Given the description of an element on the screen output the (x, y) to click on. 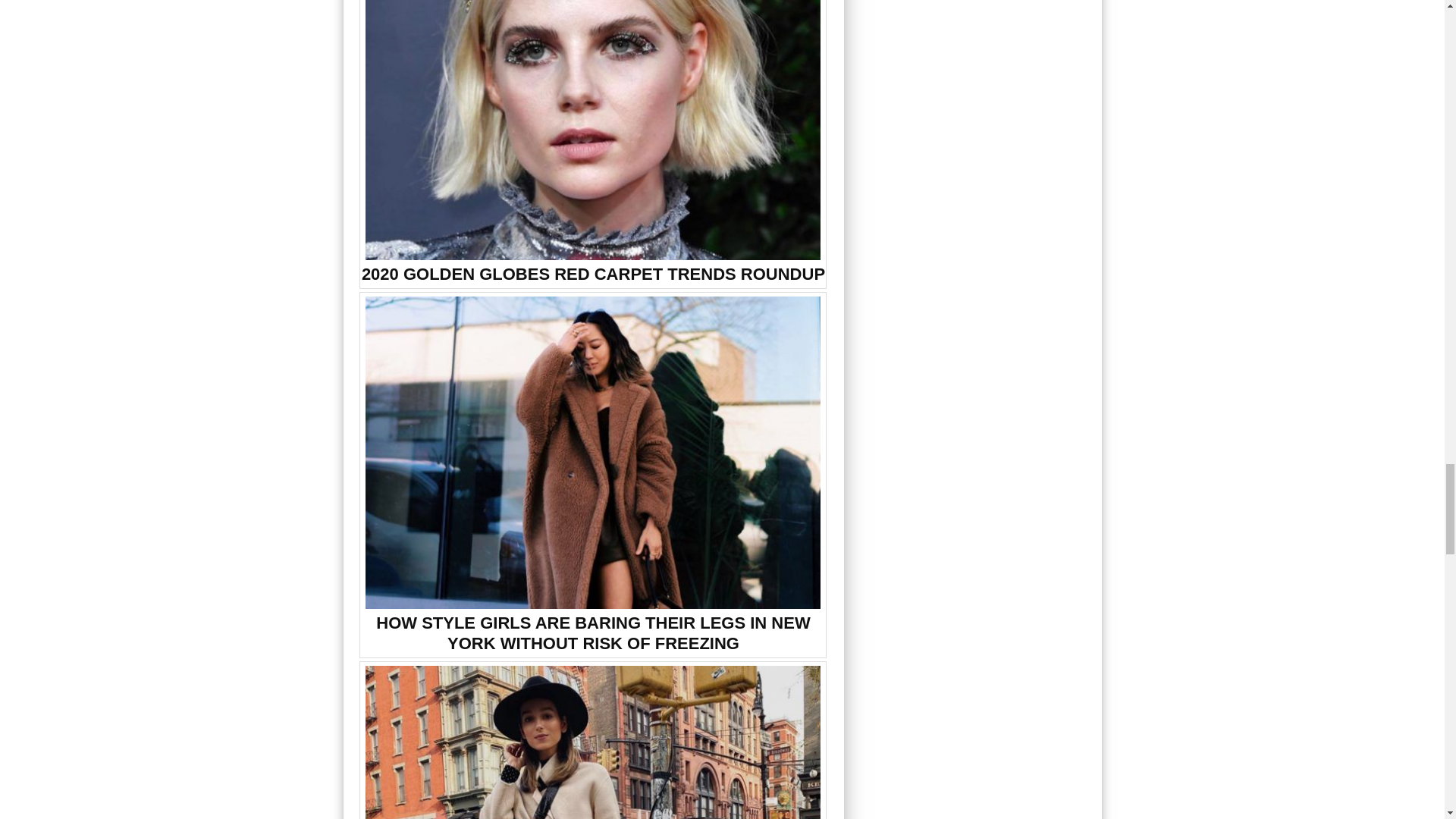
2020 Golden Globes red carpet trends roundup (593, 130)
